Given the description of an element on the screen output the (x, y) to click on. 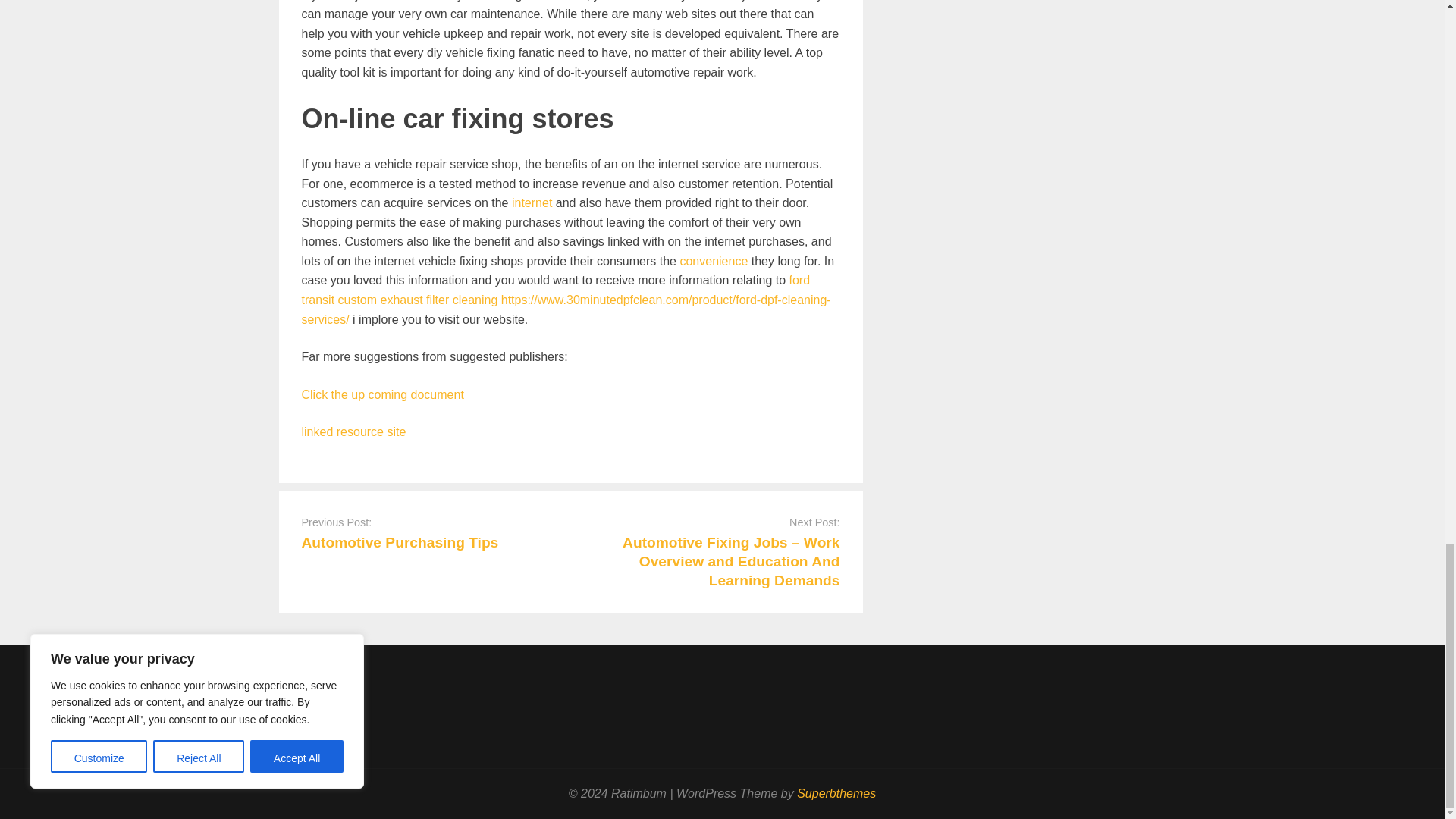
Click the up coming document (382, 394)
internet (531, 202)
Automotive Purchasing Tips (400, 542)
linked resource site (353, 431)
convenience (713, 260)
